Given the description of an element on the screen output the (x, y) to click on. 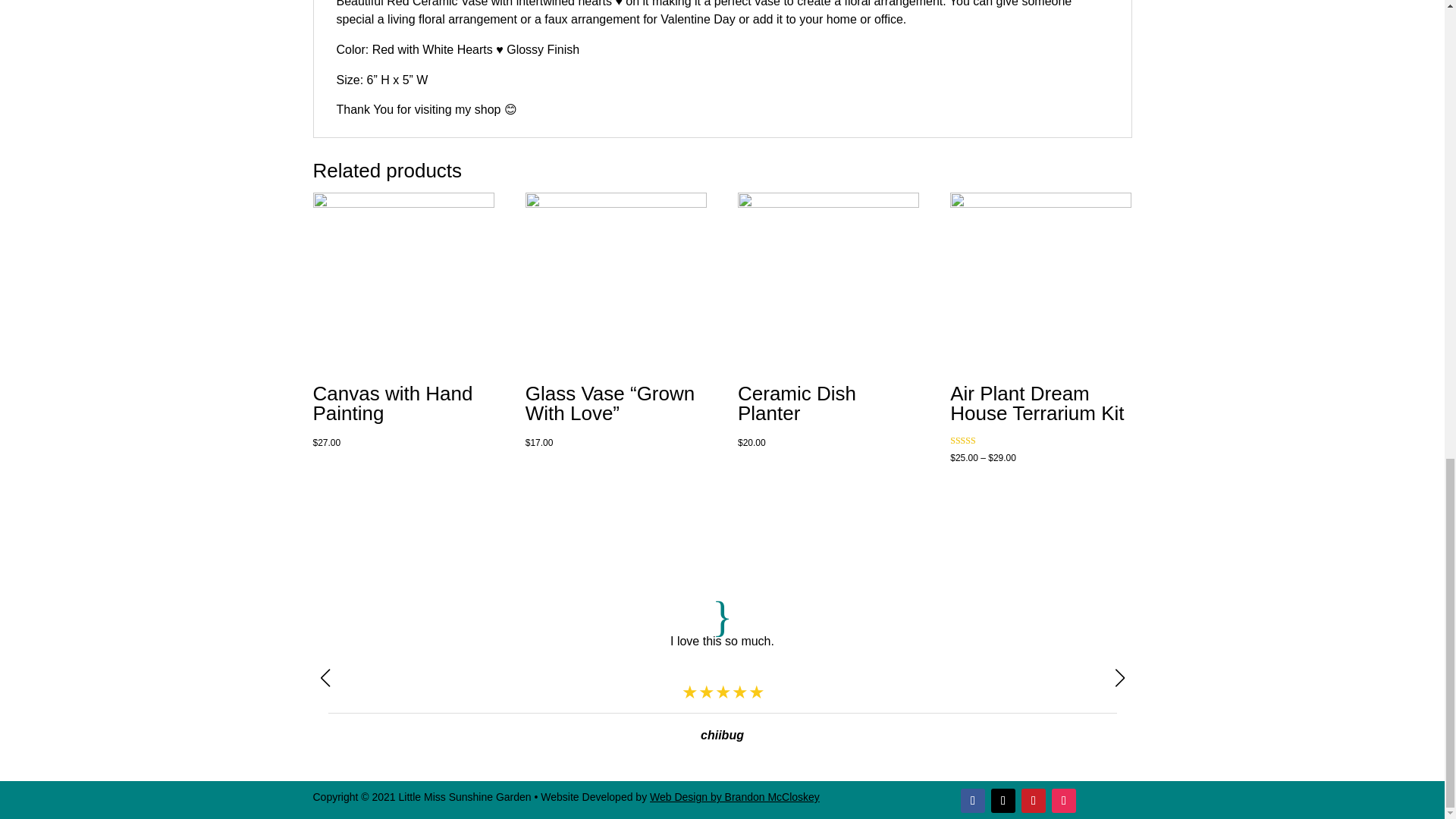
Follow on Facebook (972, 800)
Follow on X (1002, 800)
Follow on Pinterest (1033, 800)
Follow on Instagram (1063, 800)
